Given the description of an element on the screen output the (x, y) to click on. 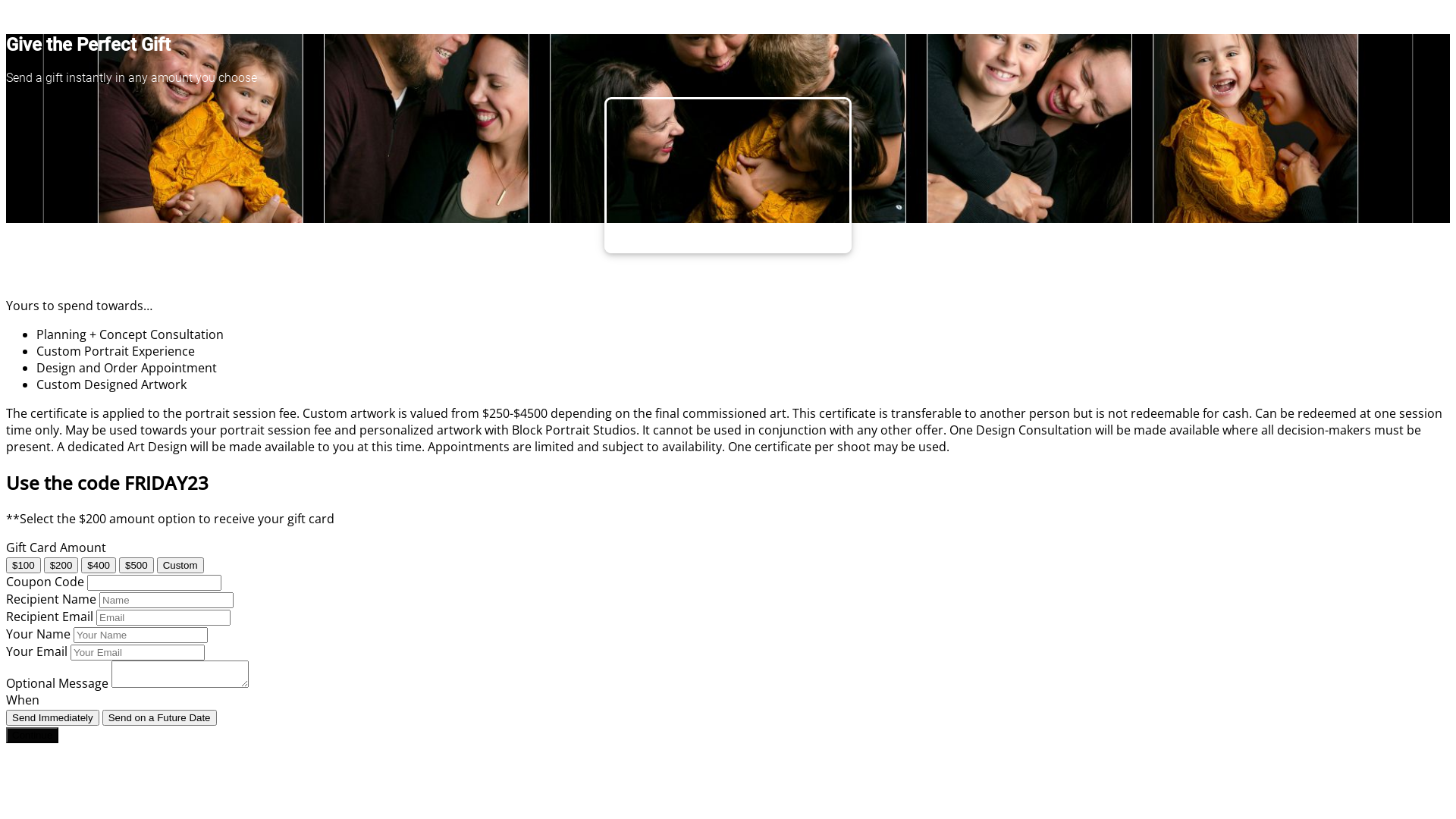
Send Immediately Element type: text (52, 717)
Send on a Future Date Element type: text (159, 717)
$500 Element type: text (136, 565)
Custom Element type: text (179, 565)
$400 Element type: text (98, 565)
$100 Element type: text (23, 565)
$200 Element type: text (60, 565)
Continue Element type: text (32, 735)
